Given the description of an element on the screen output the (x, y) to click on. 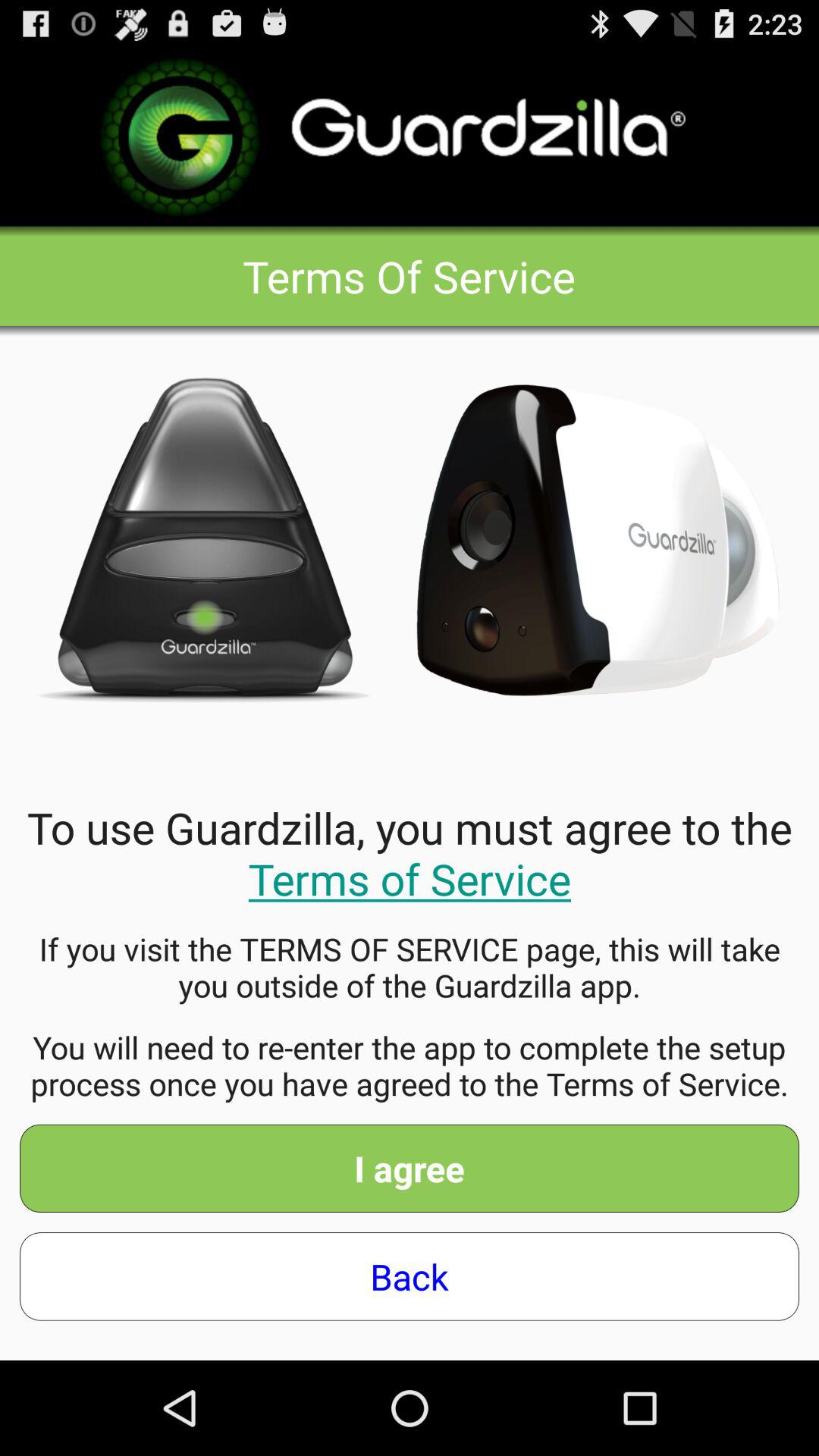
tap i agree app (409, 1168)
